Given the description of an element on the screen output the (x, y) to click on. 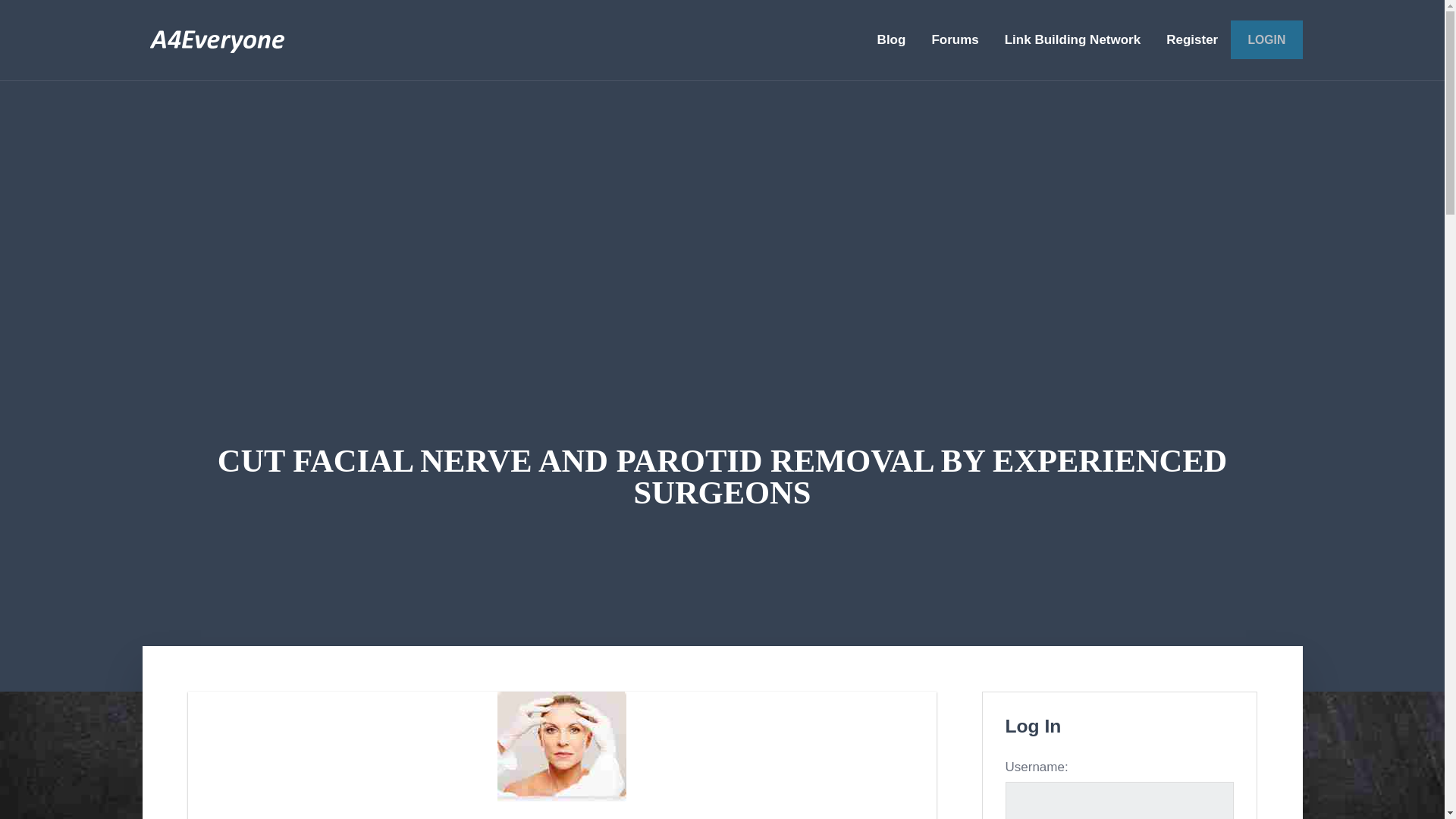
LOGIN (1265, 39)
Forums (954, 40)
Register (1191, 40)
Link Building Network (1072, 40)
